Given the description of an element on the screen output the (x, y) to click on. 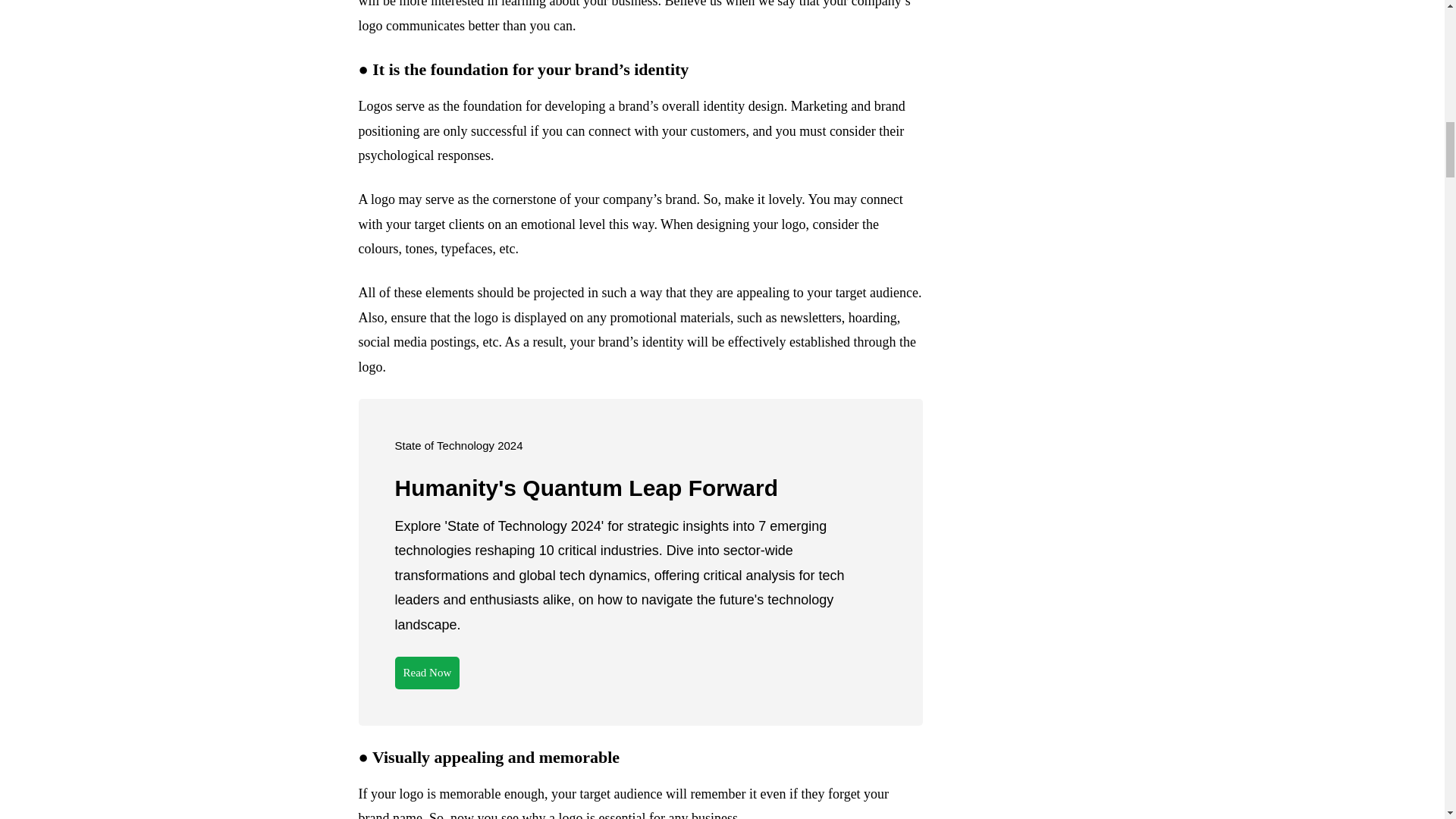
Read Now (427, 672)
